Given the description of an element on the screen output the (x, y) to click on. 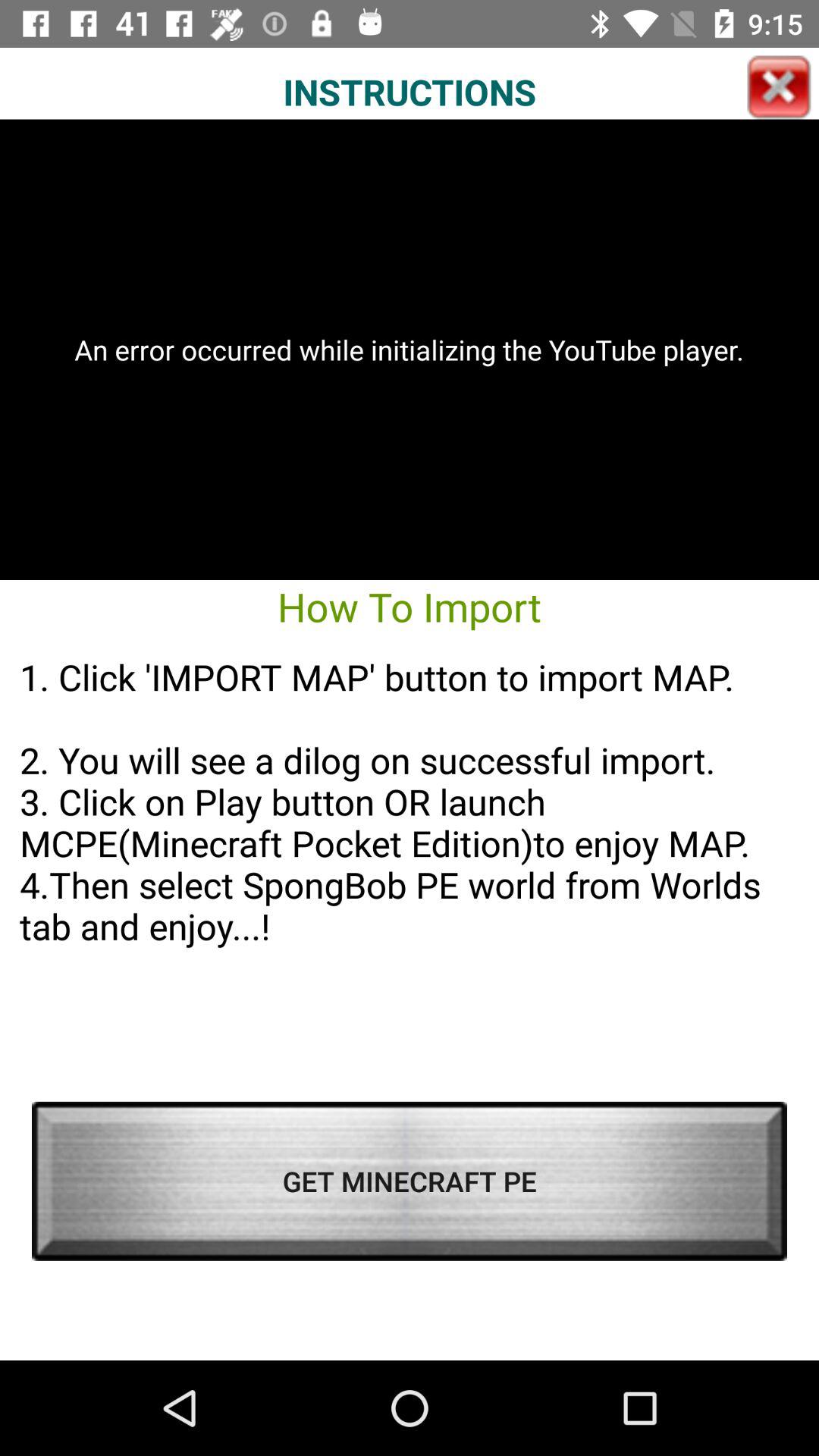
choose the icon above the an error occurred app (779, 87)
